Given the description of an element on the screen output the (x, y) to click on. 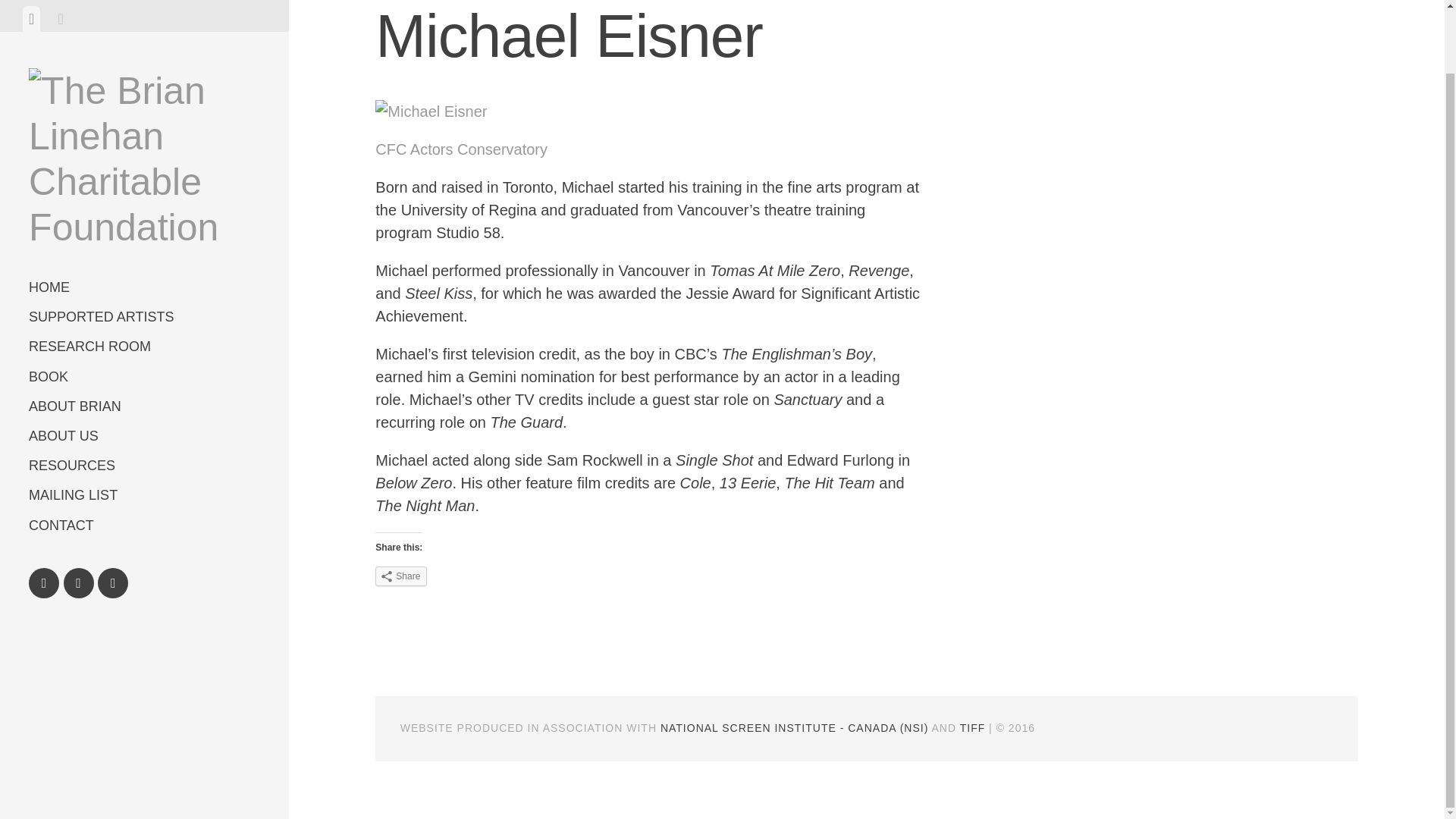
SUPPORTED ARTISTS (144, 247)
ABOUT US (144, 367)
CONTACT (144, 456)
RESOURCES (144, 396)
HOME (144, 218)
ABOUT BRIAN (144, 337)
Twitter (79, 513)
MAILING LIST (144, 426)
BOOK (144, 307)
Share (400, 576)
